Given the description of an element on the screen output the (x, y) to click on. 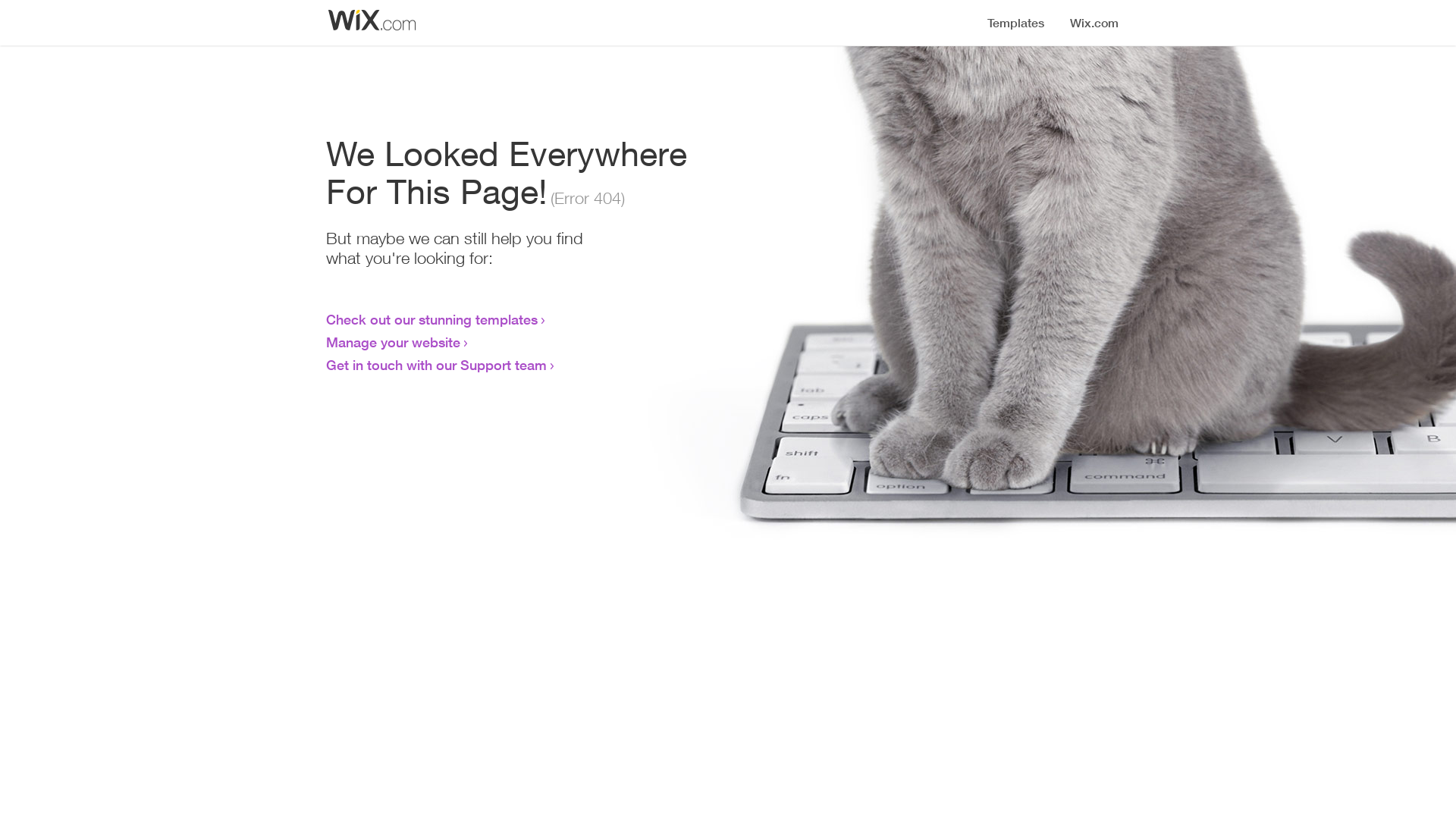
Get in touch with our Support team Element type: text (436, 364)
Manage your website Element type: text (393, 341)
Check out our stunning templates Element type: text (431, 318)
